Given the description of an element on the screen output the (x, y) to click on. 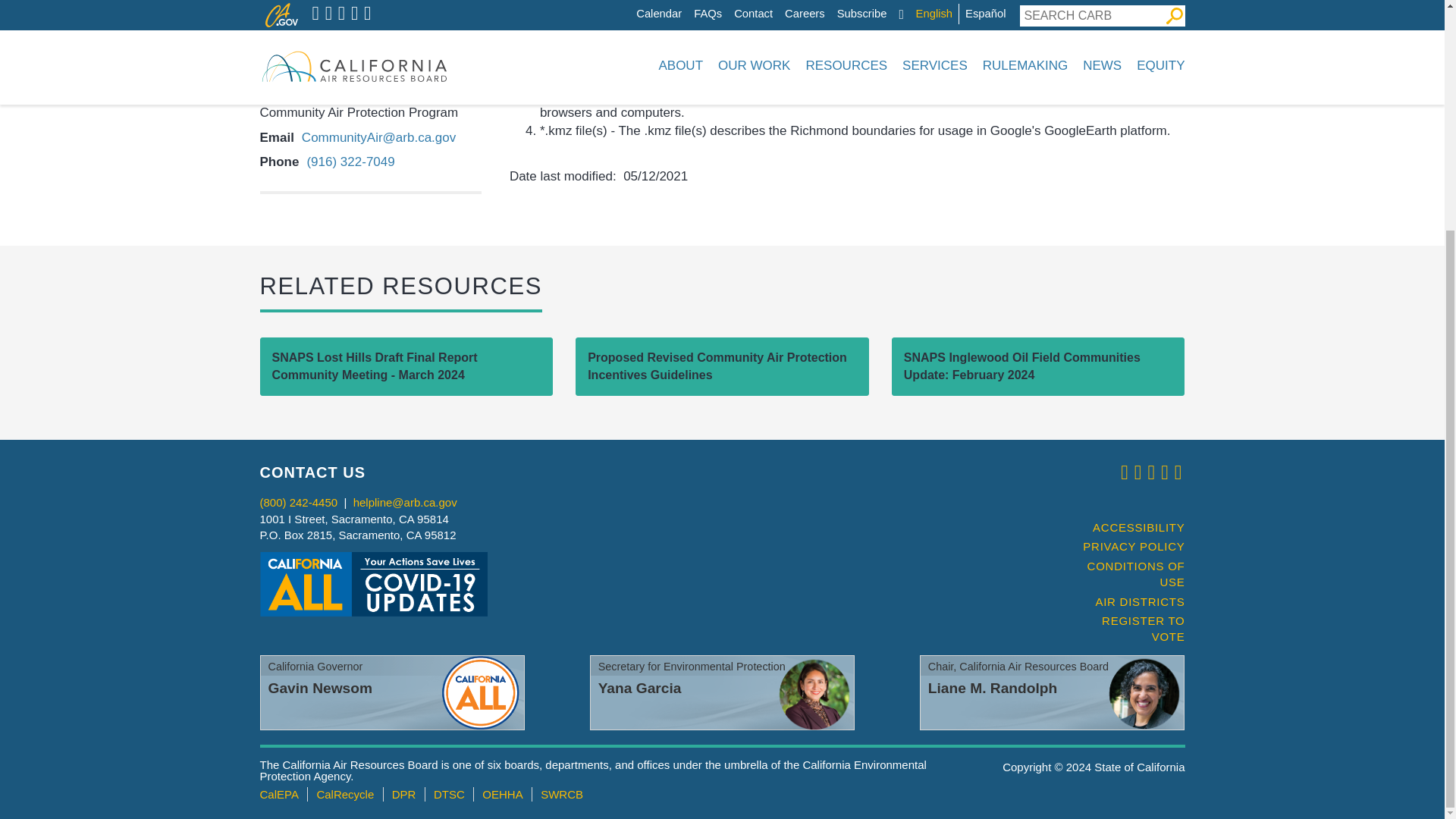
California online voter registration (1127, 628)
California Environmental Protection Agency (278, 794)
